Given the description of an element on the screen output the (x, y) to click on. 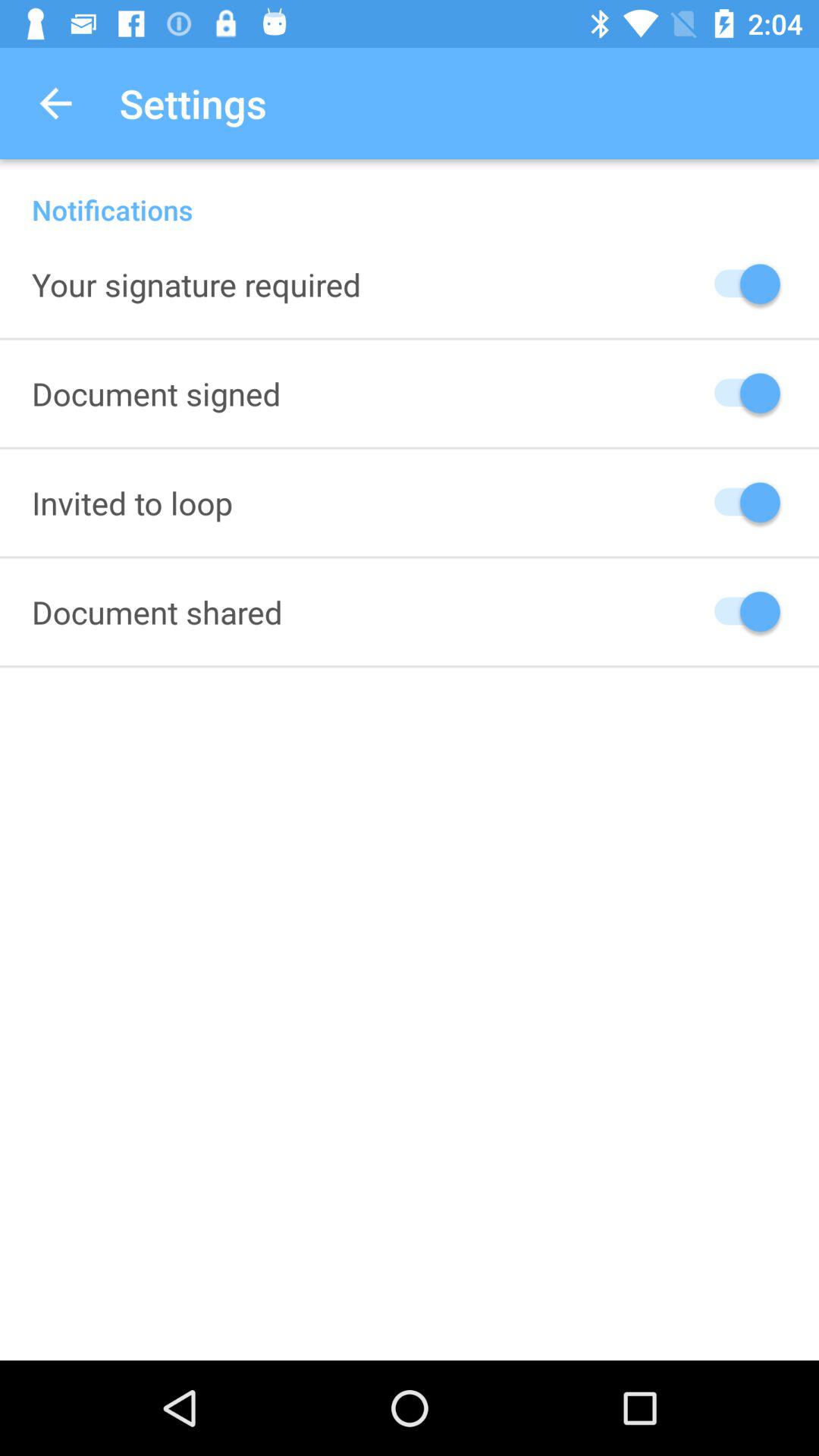
choose the notifications icon (409, 193)
